Given the description of an element on the screen output the (x, y) to click on. 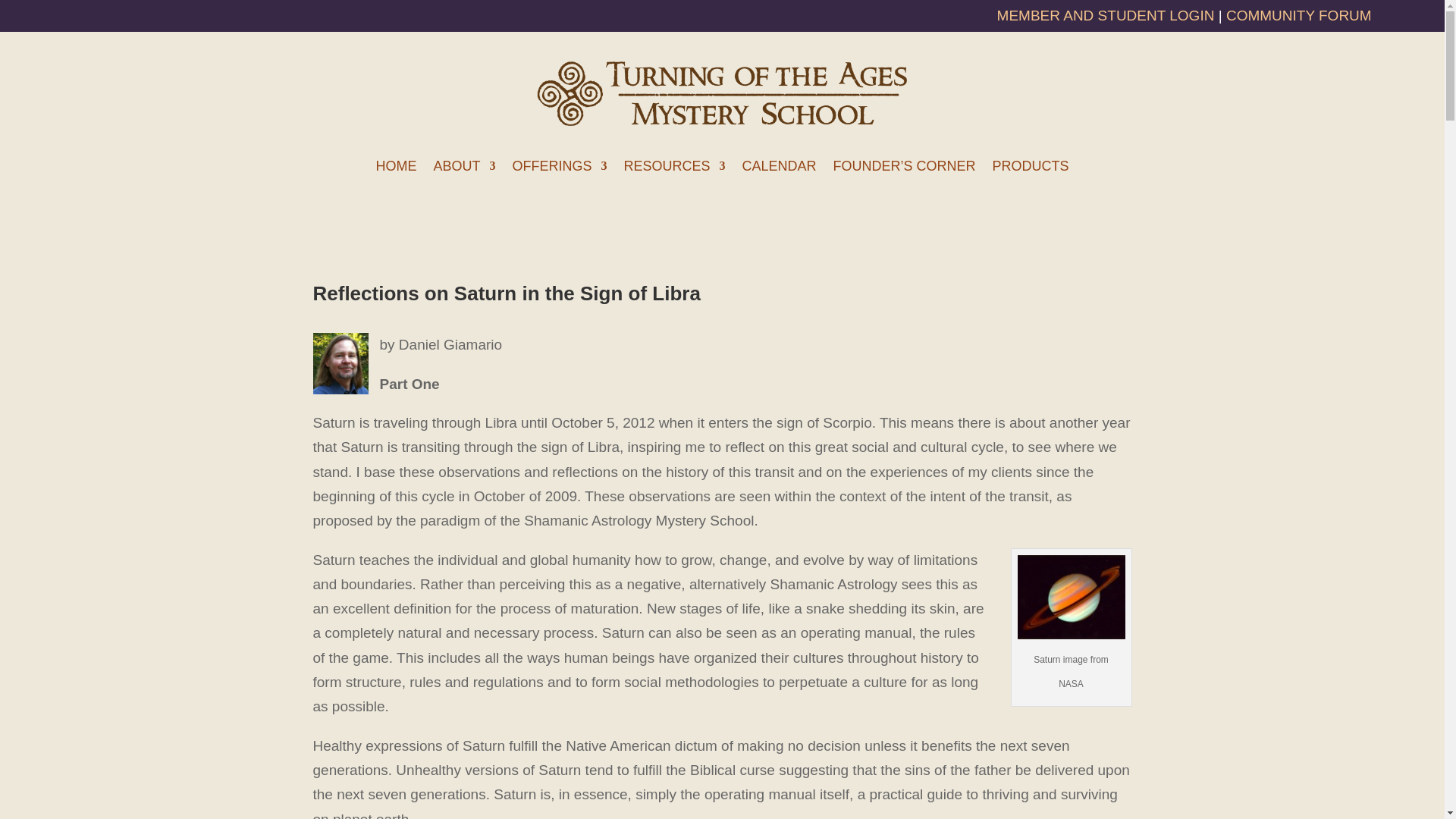
RESOURCES (674, 168)
HOME (395, 168)
CALENDAR (778, 168)
COMMUNITY FORUM (1298, 15)
ABOUT (463, 168)
OFFERINGS (559, 168)
MEMBER AND STUDENT LOGIN (1107, 15)
PRODUCTS (1030, 168)
